Given the description of an element on the screen output the (x, y) to click on. 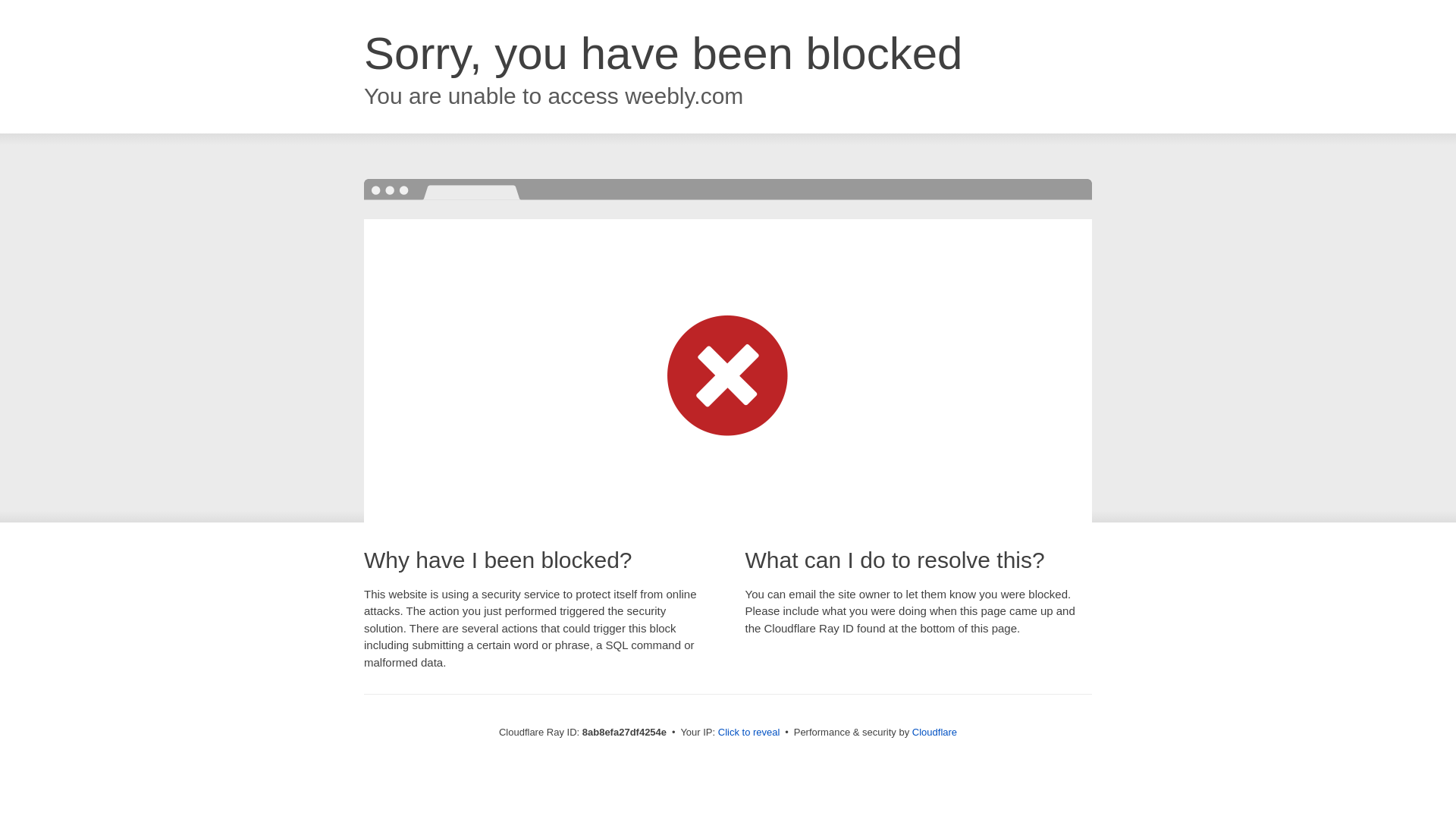
Click to reveal (748, 732)
Cloudflare (934, 731)
